Given the description of an element on the screen output the (x, y) to click on. 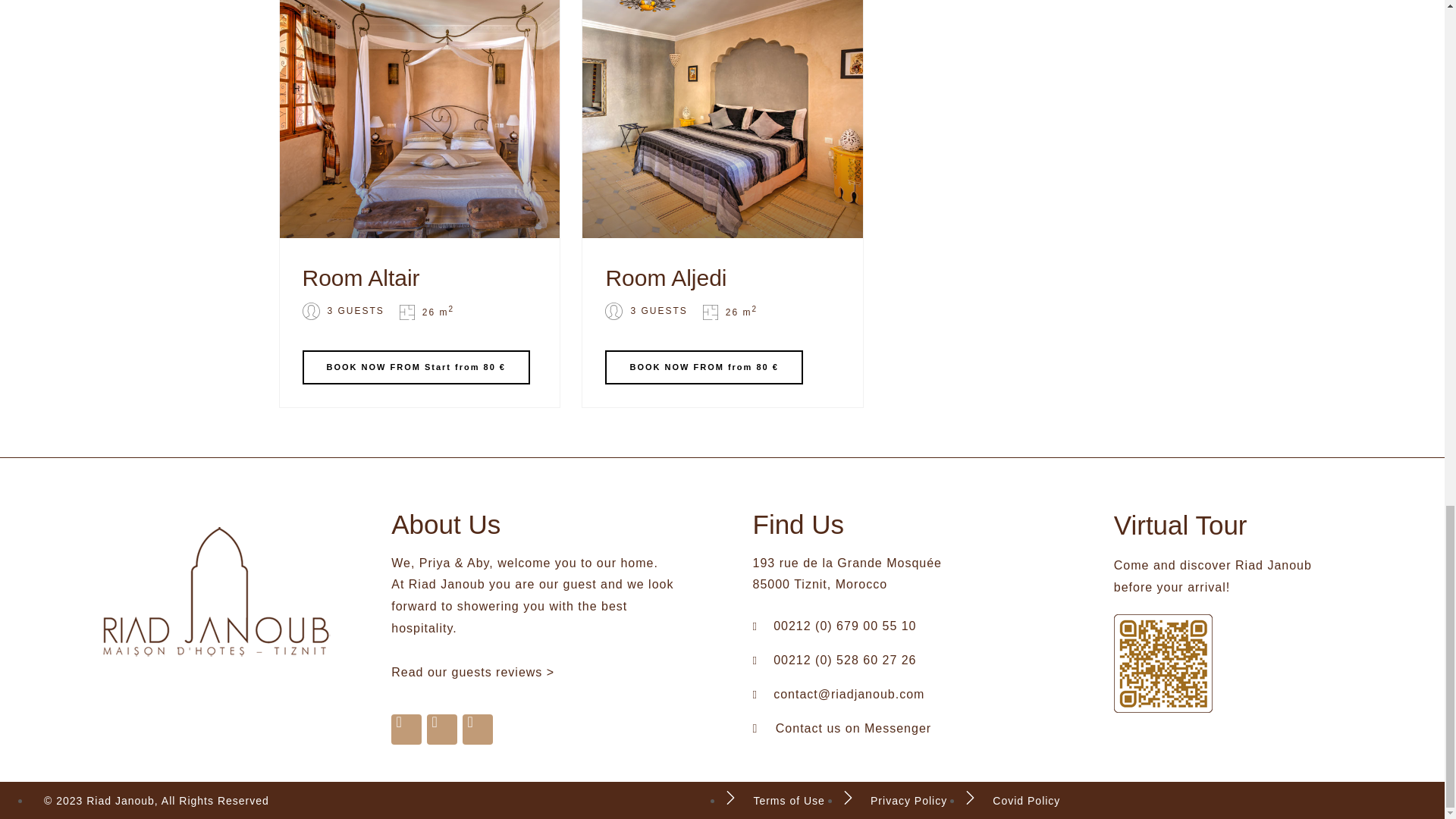
Room Altair (419, 277)
Room Aljedi (722, 277)
